Given the description of an element on the screen output the (x, y) to click on. 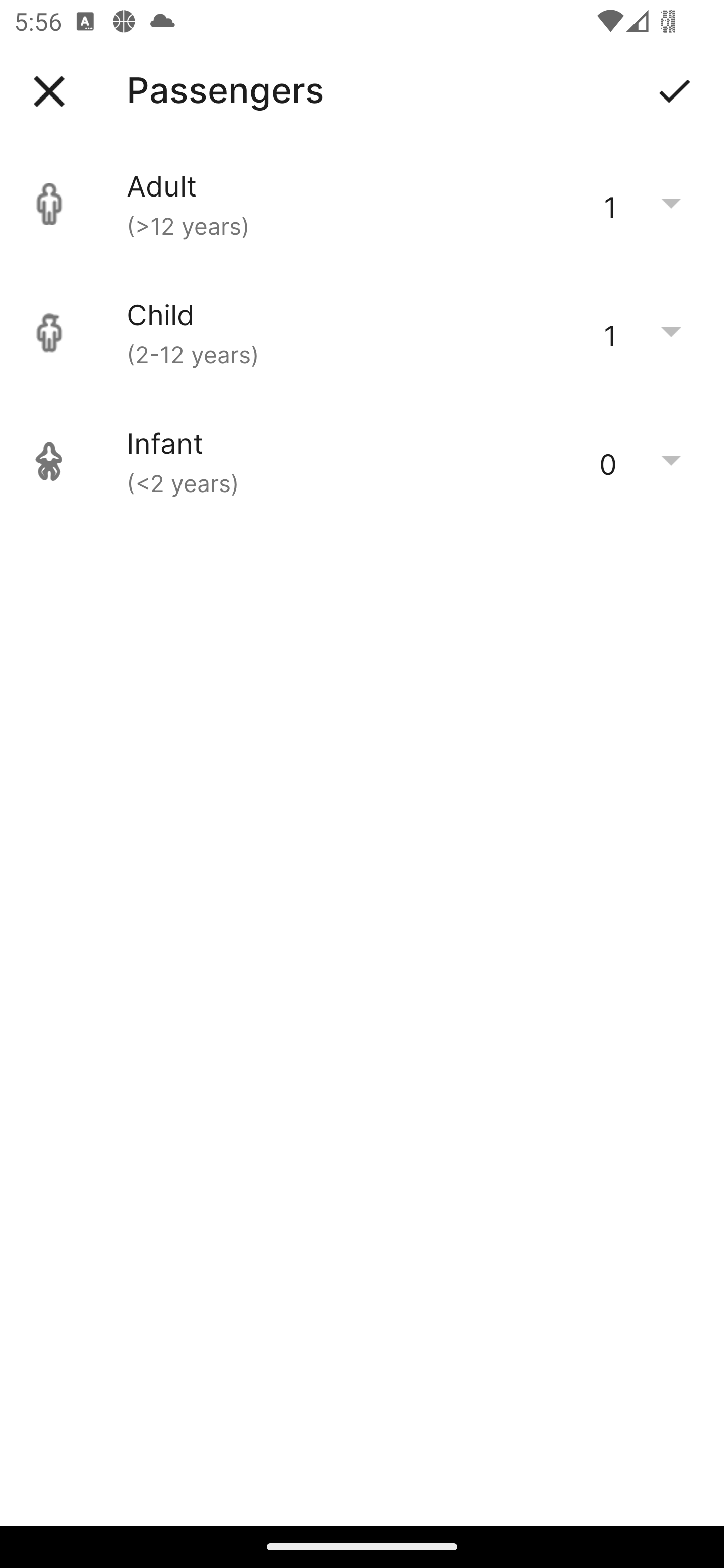
Adult (>12 years) 1 (362, 204)
Child (2-12 years) 1 (362, 332)
Infant (<2 years) 0 (362, 461)
